Given the description of an element on the screen output the (x, y) to click on. 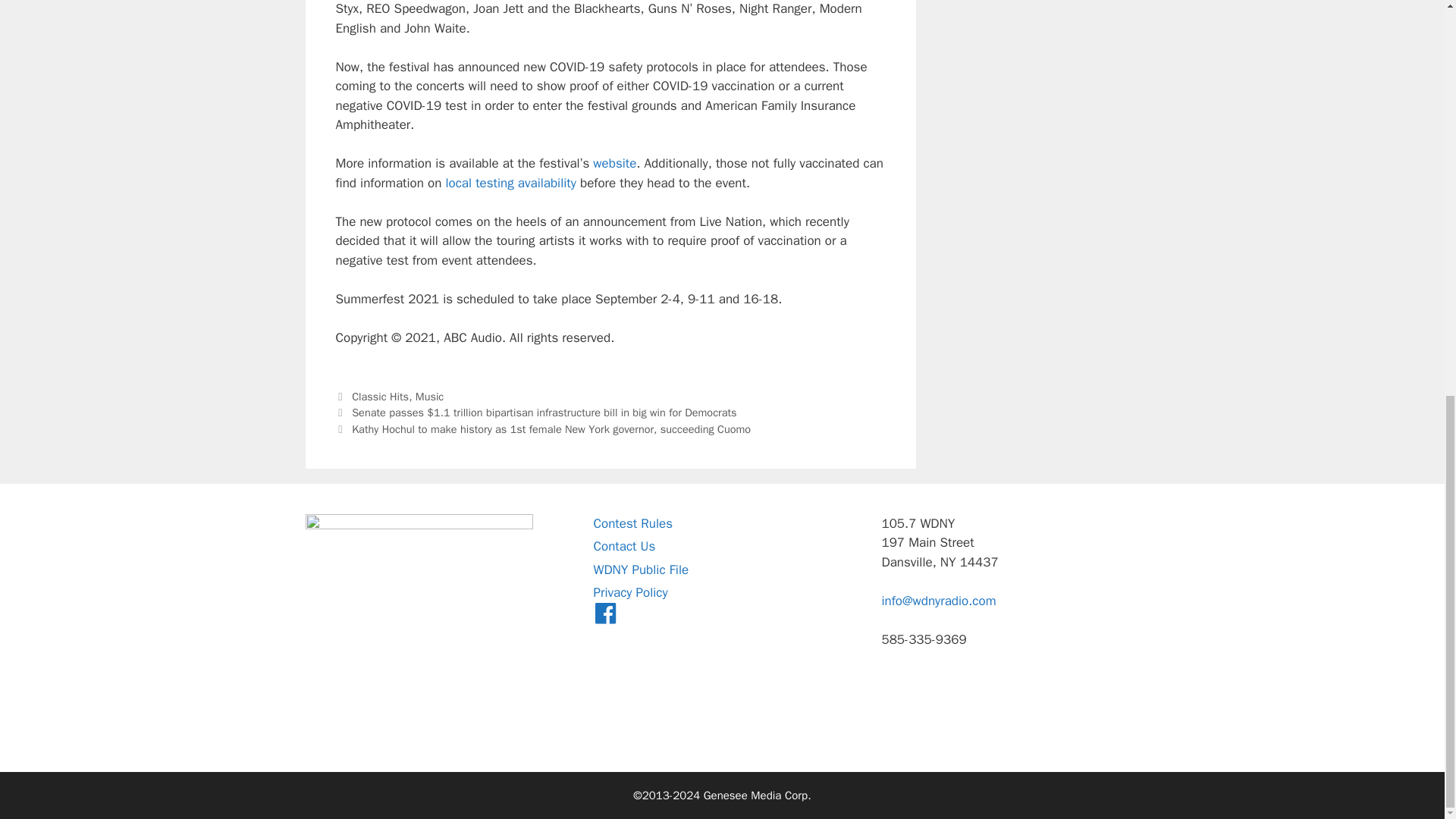
Music (429, 396)
website (614, 163)
Contest Rules (632, 523)
Contact Us (623, 546)
local testing availability (510, 182)
Privacy Policy (629, 592)
Menu Item (605, 616)
Classic Hits (380, 396)
WDNY Public File (640, 569)
